Given the description of an element on the screen output the (x, y) to click on. 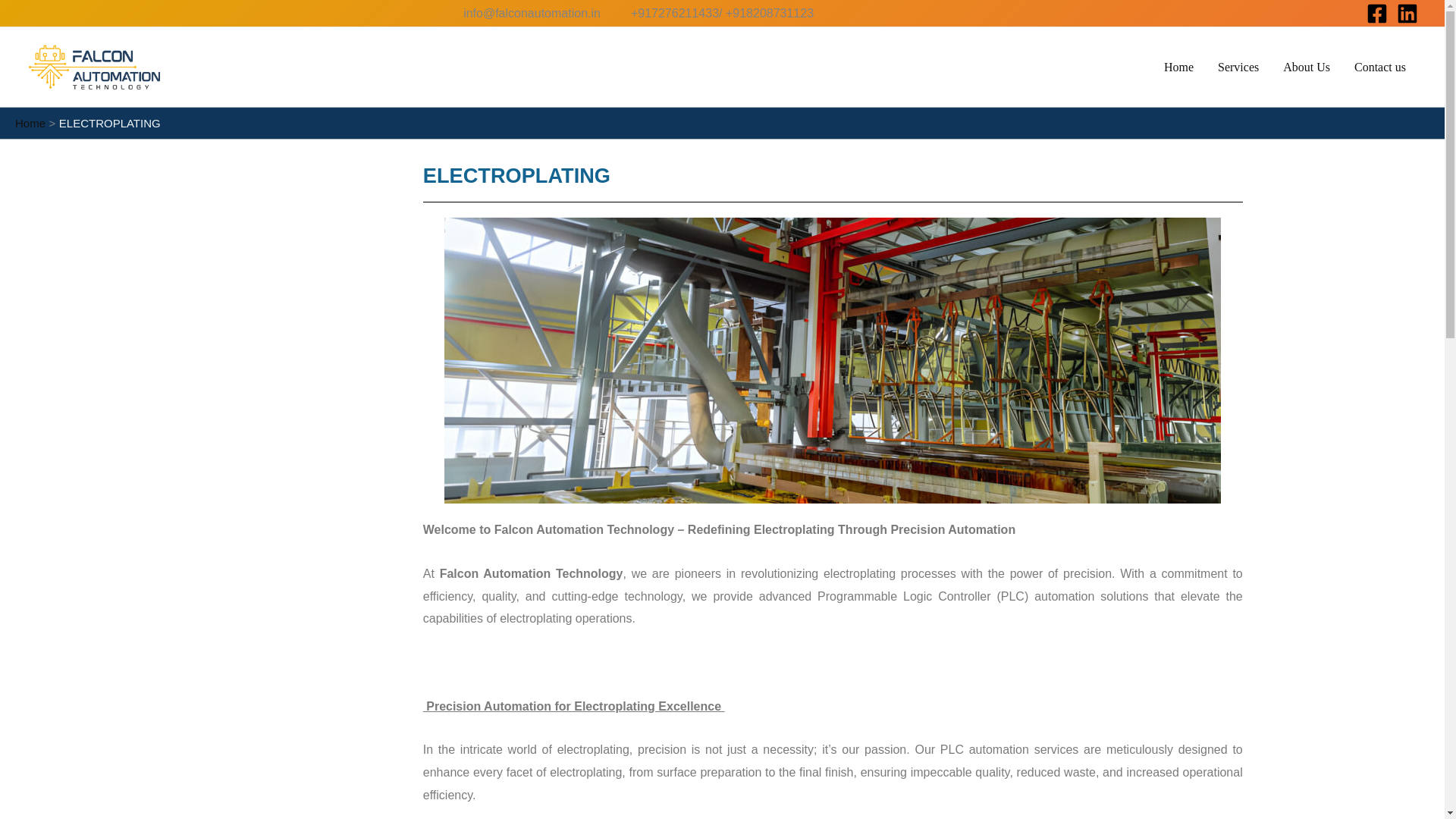
Home (29, 123)
About Us (1306, 66)
Services (1238, 66)
Contact us (1380, 66)
